Given the description of an element on the screen output the (x, y) to click on. 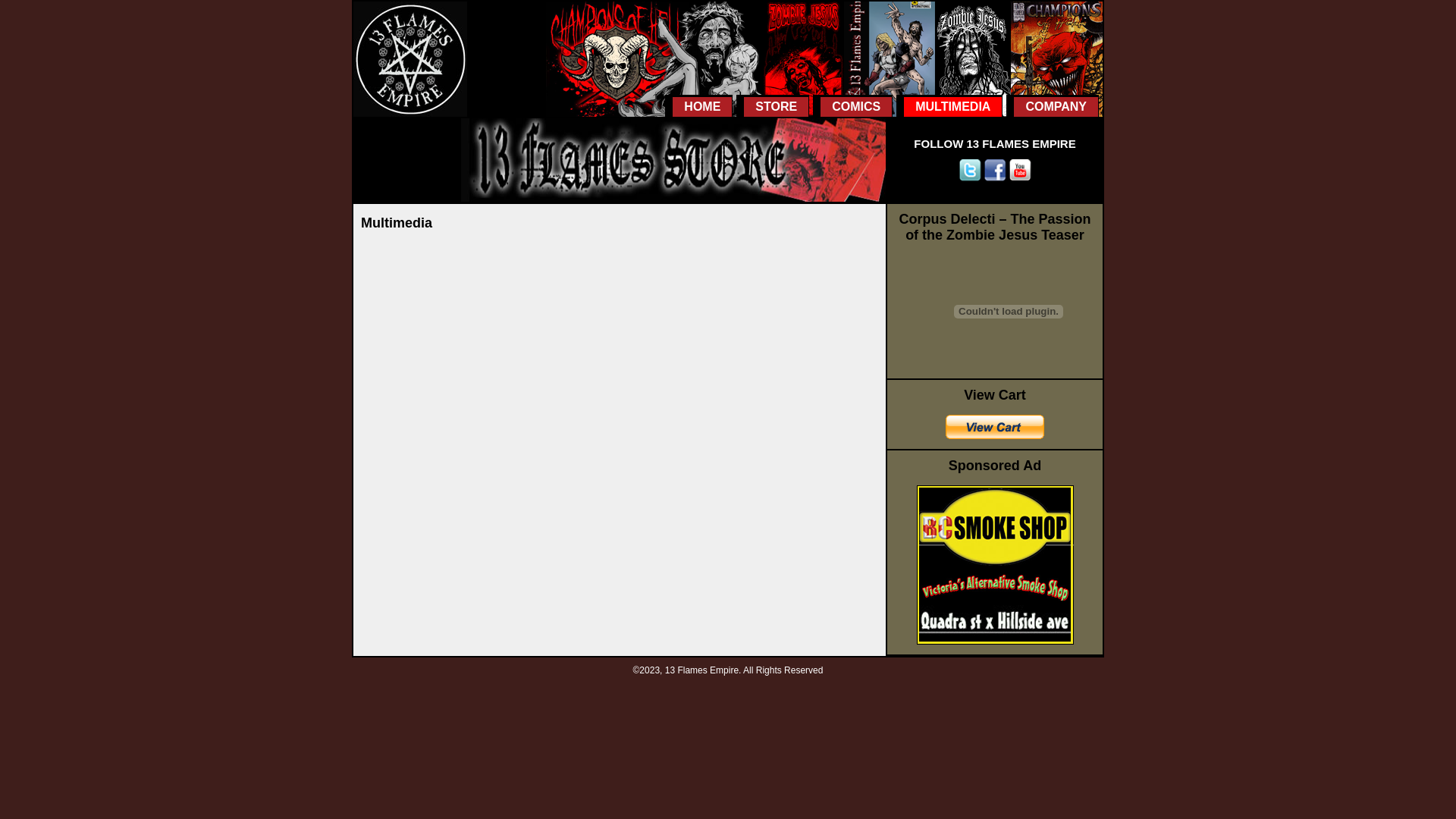
Youtube Element type: hover (1019, 170)
Sponsored Ad Element type: hover (994, 641)
MULTIMEDIA Element type: text (949, 105)
STORE Element type: text (772, 105)
COMICS Element type: text (852, 105)
Facebook Element type: hover (994, 170)
Twitter Element type: hover (969, 170)
HOME Element type: text (698, 105)
COMPANY Element type: text (1052, 105)
13 Flames Store Element type: hover (673, 198)
